Given the description of an element on the screen output the (x, y) to click on. 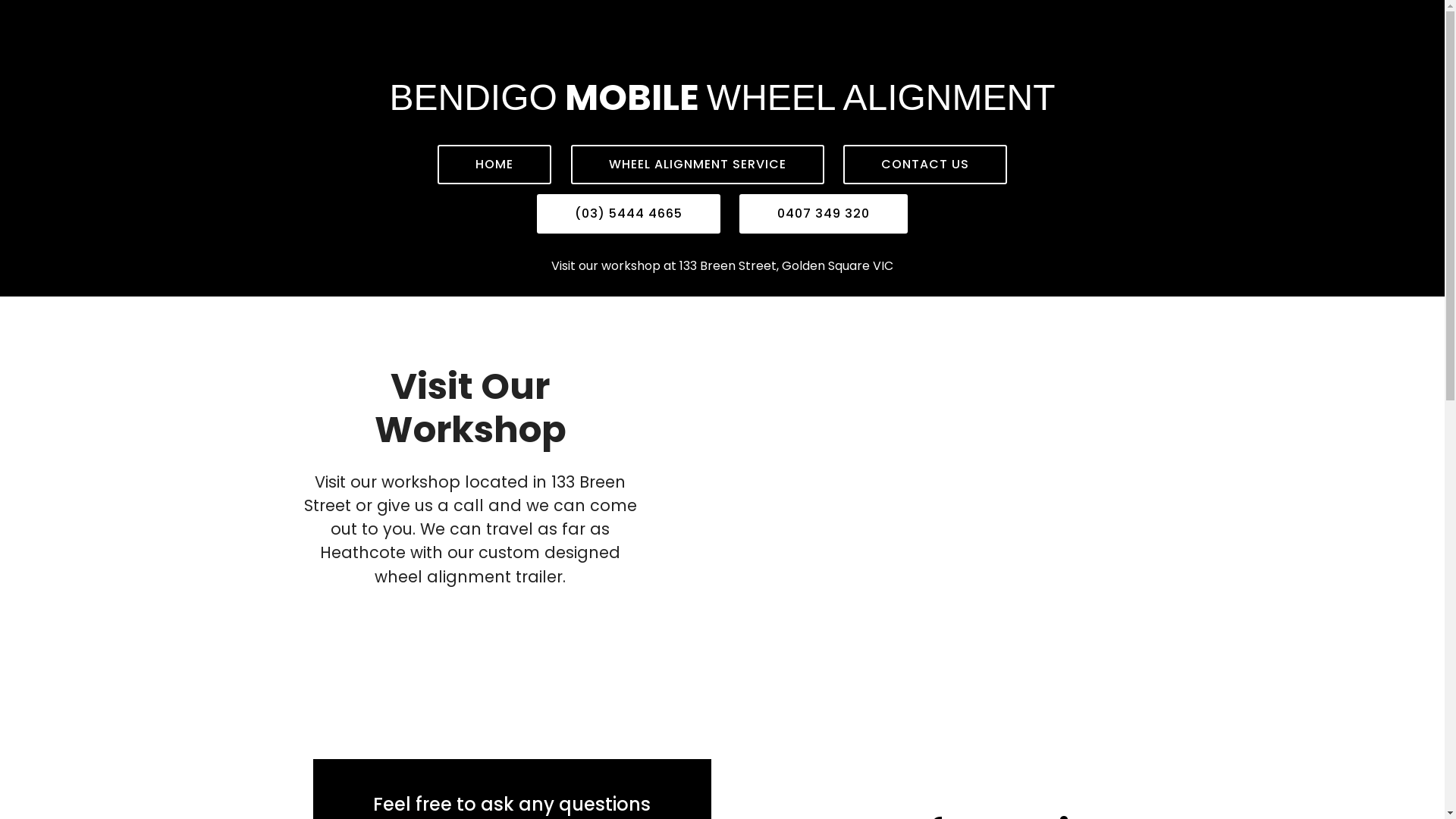
WHEEL ALIGNMENT SERVICE Element type: text (696, 164)
HOME Element type: text (494, 164)
0407 349 320 Element type: text (823, 213)
(03) 5444 4665 Element type: text (628, 213)
CONTACT US Element type: text (925, 164)
